Given the description of an element on the screen output the (x, y) to click on. 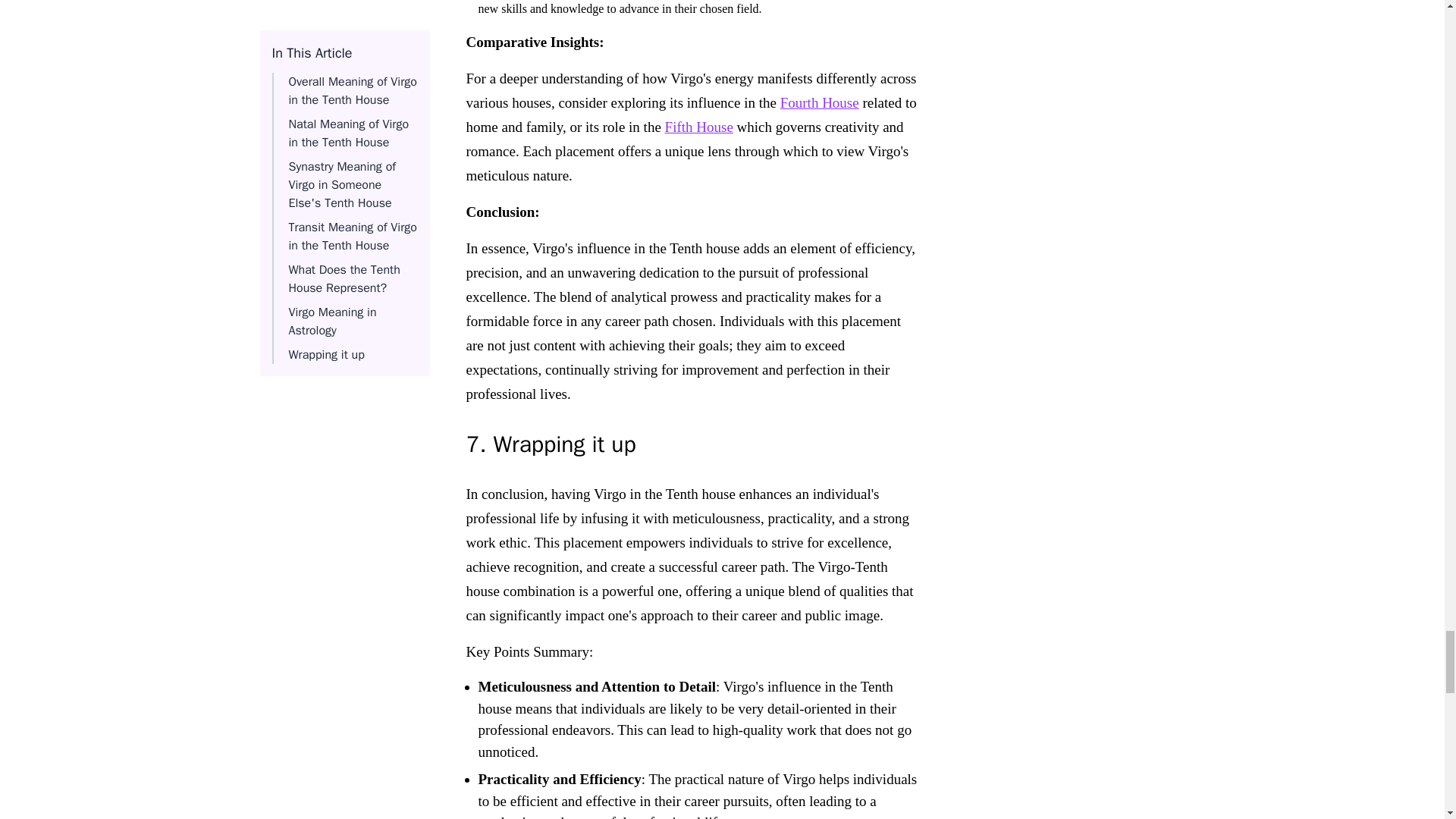
Fifth House (699, 126)
Fourth House (819, 102)
